Given the description of an element on the screen output the (x, y) to click on. 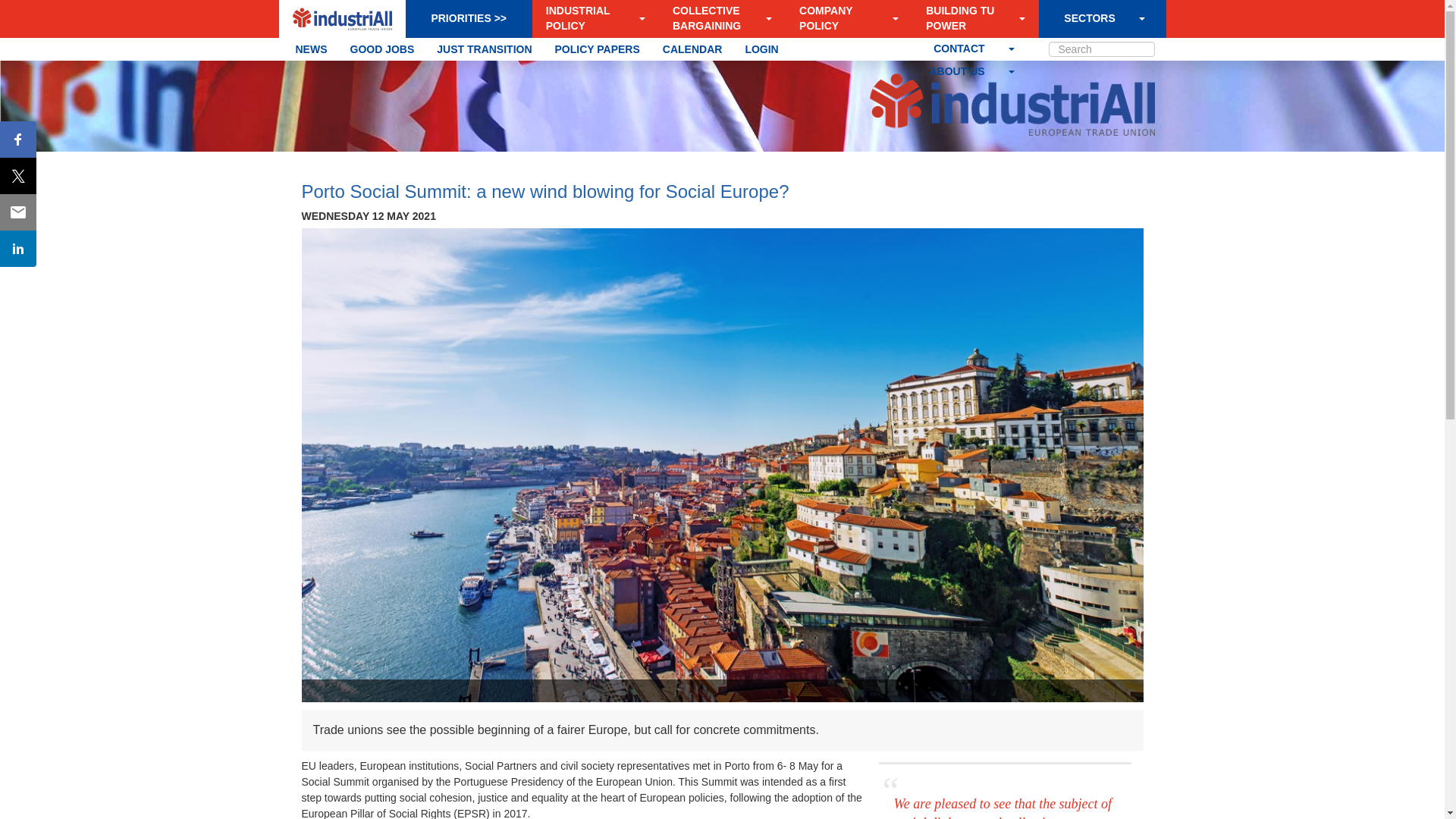
BUILDING TU POWER (968, 18)
COMPANY POLICY (841, 18)
SECTORS (1088, 18)
INDUSTRIAL POLICY (588, 18)
COLLECTIVE BARGAINING (714, 18)
